Given the description of an element on the screen output the (x, y) to click on. 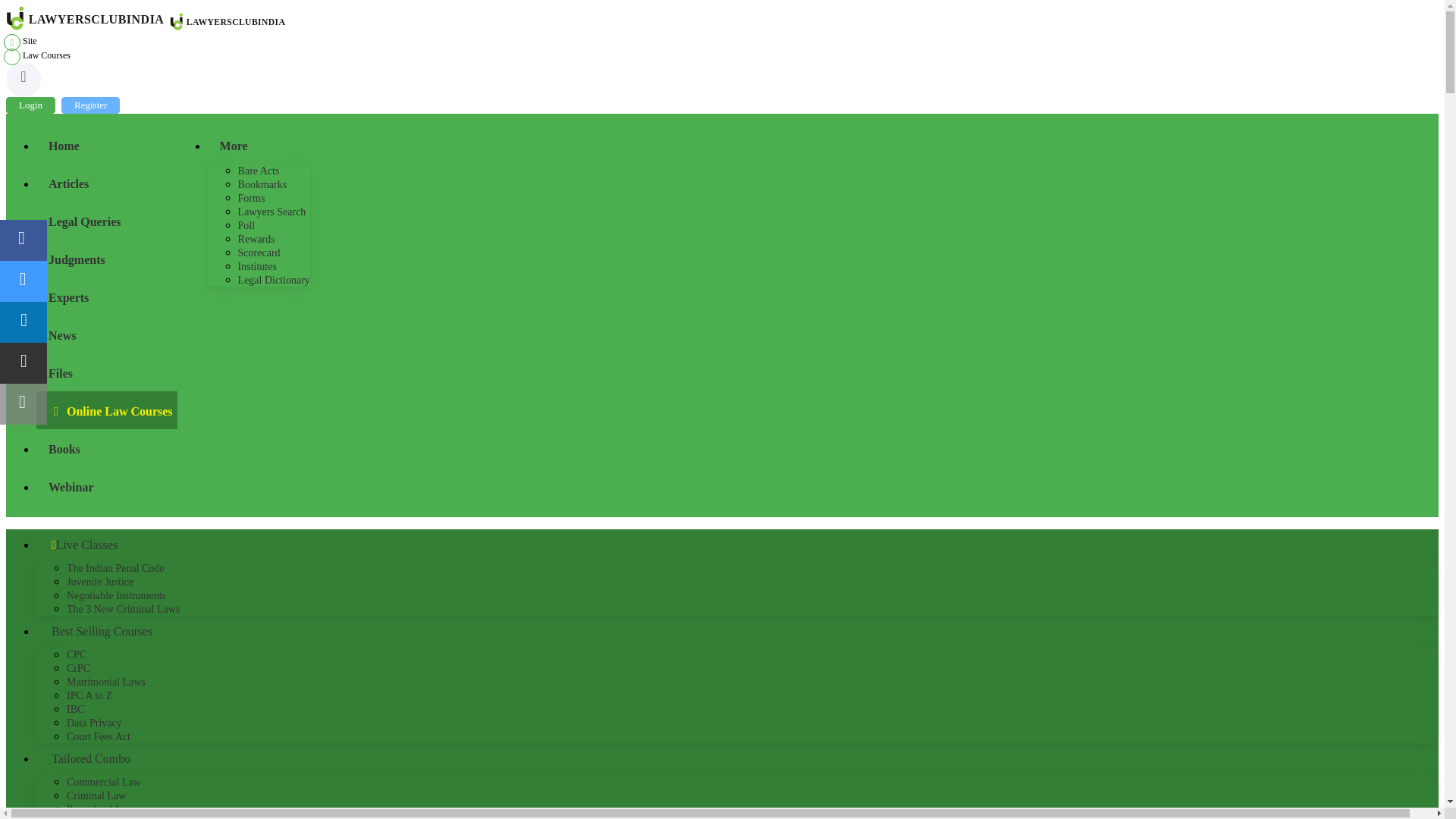
Forum (106, 220)
Live Classes (737, 545)
Negotiable Instruments (115, 595)
Login (30, 105)
Forms (251, 197)
Negotiable Instruments (115, 595)
CPC (75, 654)
Institutes (257, 266)
Judgments (106, 258)
Matrimonial Laws (105, 681)
Legal Dictionary (274, 279)
News (106, 333)
Juvenile Justice (99, 582)
Judgments (106, 258)
